Given the description of an element on the screen output the (x, y) to click on. 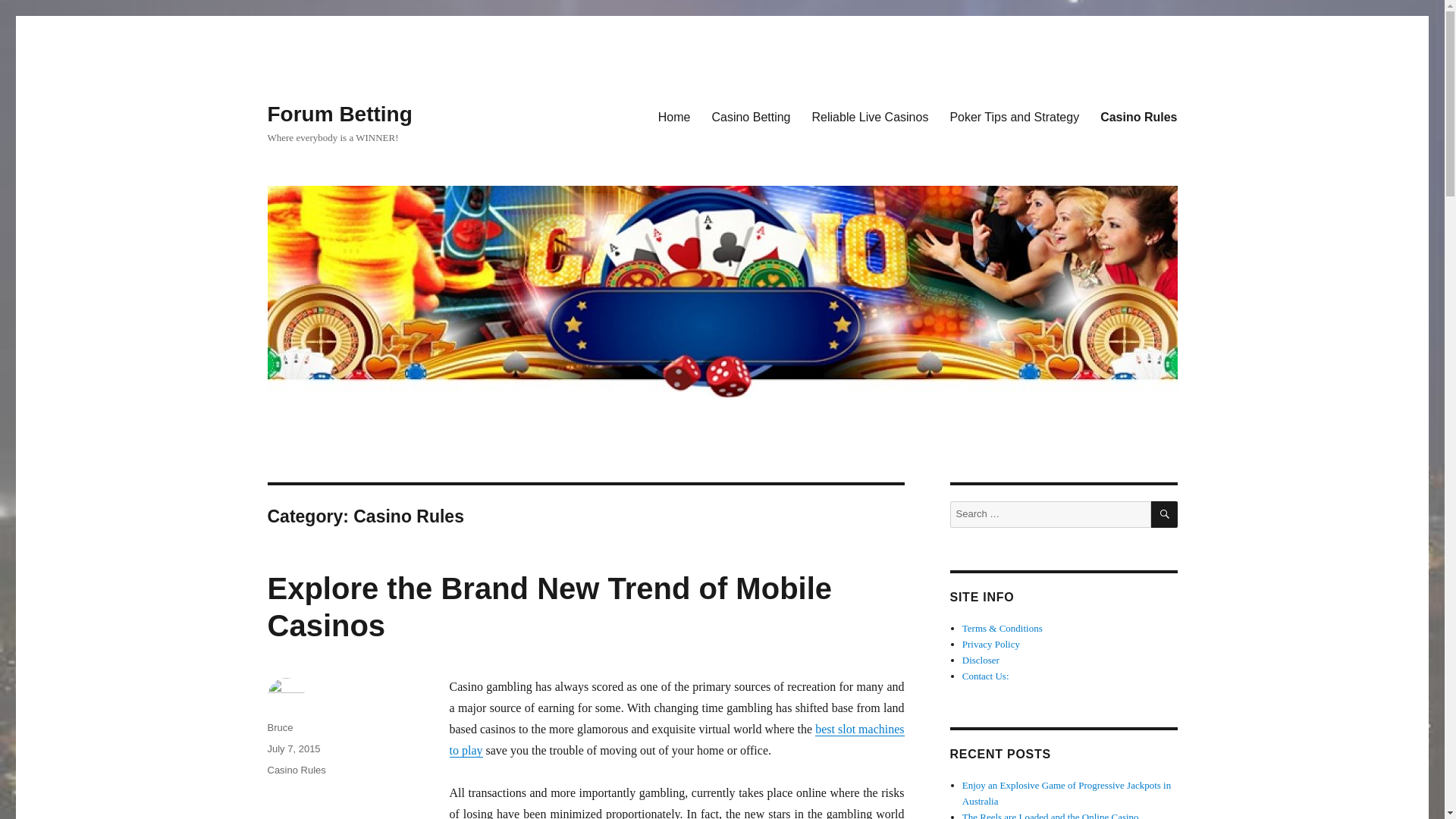
Casino Rules (295, 769)
Discloser (980, 659)
Contact Us: (985, 675)
Casino Rules (1138, 116)
Home (674, 116)
Casino Betting (750, 116)
Bruce (279, 727)
SEARCH (1164, 514)
Privacy Policy (991, 644)
Forum Betting (339, 114)
Poker Tips and Strategy (1014, 116)
Enjoy an Explosive Game of Progressive Jackpots in Australia (1066, 792)
best slot machines to play (676, 739)
Reliable Live Casinos (870, 116)
